Given the description of an element on the screen output the (x, y) to click on. 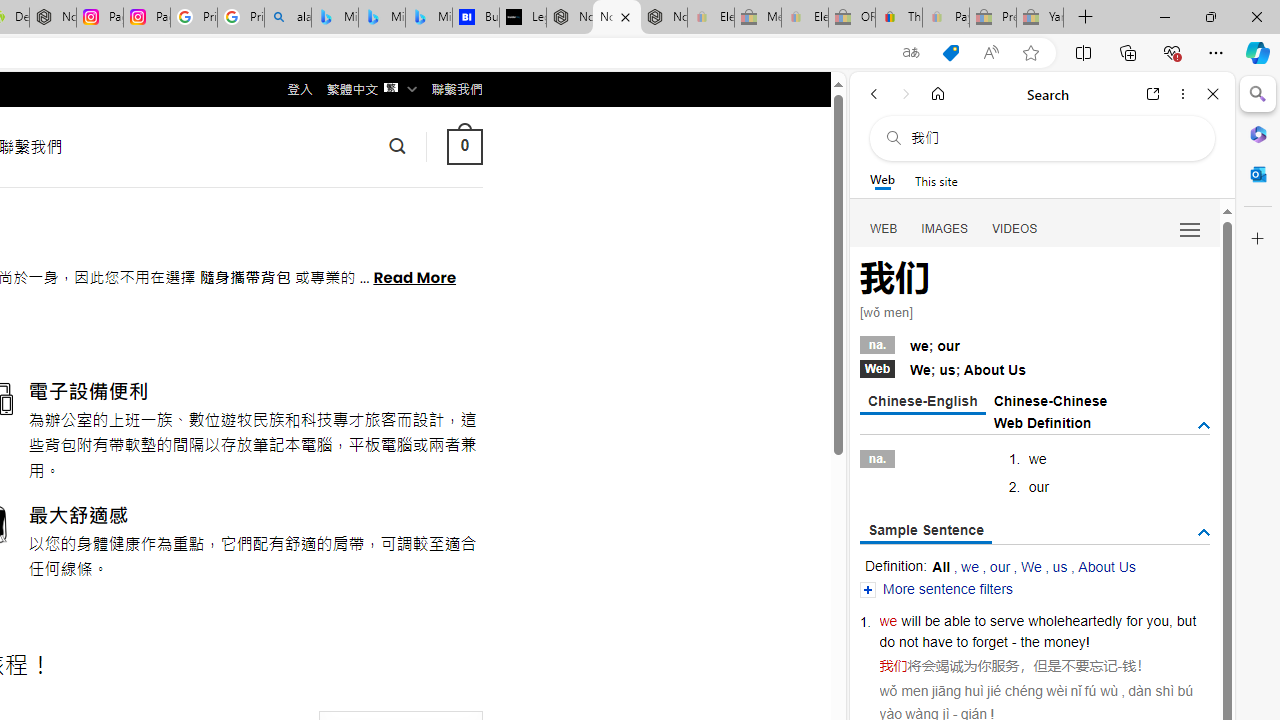
Read More (414, 276)
will (911, 620)
WEB (884, 228)
us (1059, 566)
! (1087, 642)
Web Definition (1042, 422)
serve (1007, 620)
Microsoft Bing Travel - Shangri-La Hotel Bangkok (428, 17)
 0  (464, 146)
